Given the description of an element on the screen output the (x, y) to click on. 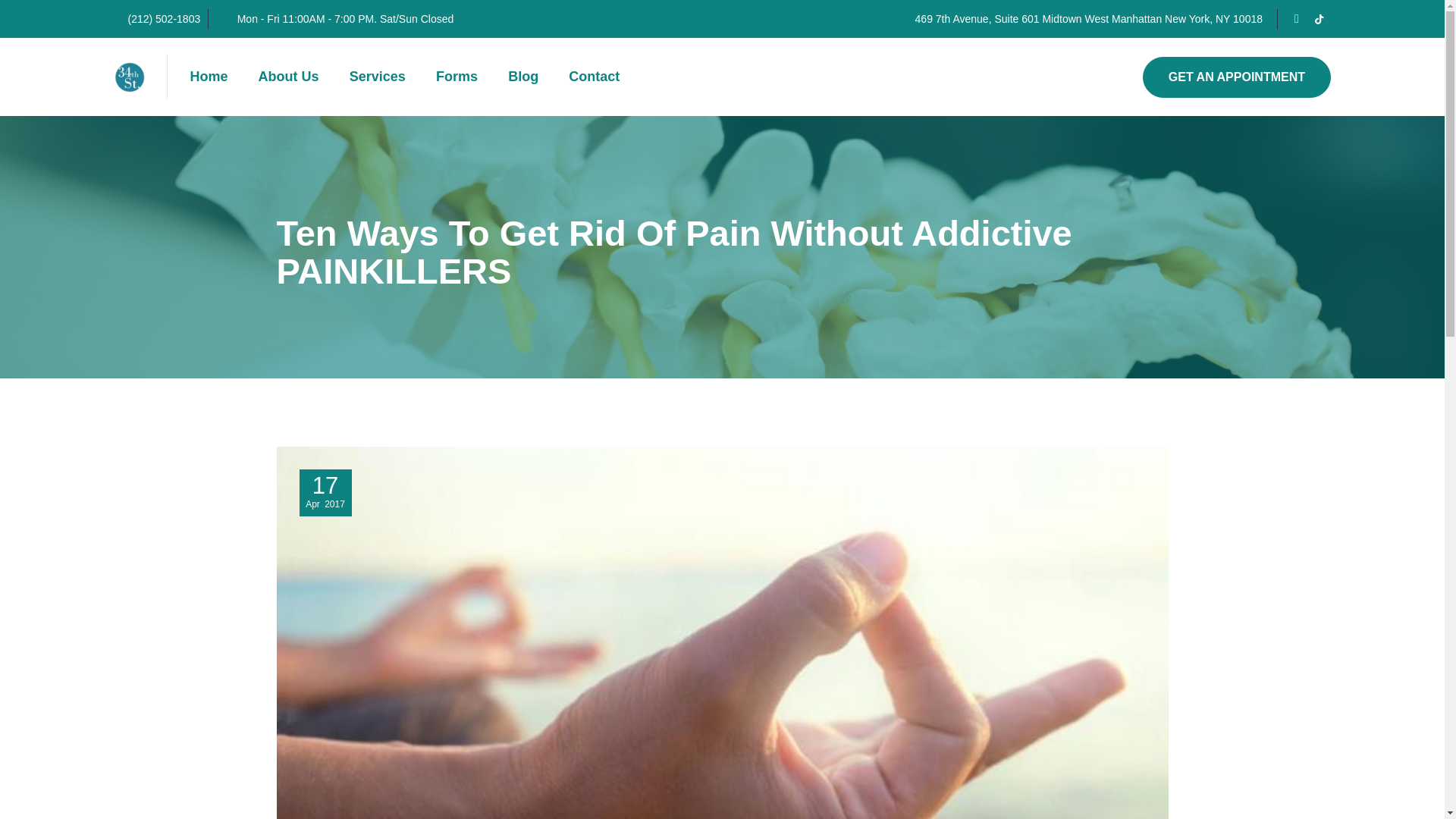
Services (377, 76)
Contact (593, 76)
Services (377, 76)
Forms (457, 76)
About Us (288, 76)
Contact (593, 76)
GET AN APPOINTMENT (1236, 76)
Forms (457, 76)
About Us (288, 76)
